Given the description of an element on the screen output the (x, y) to click on. 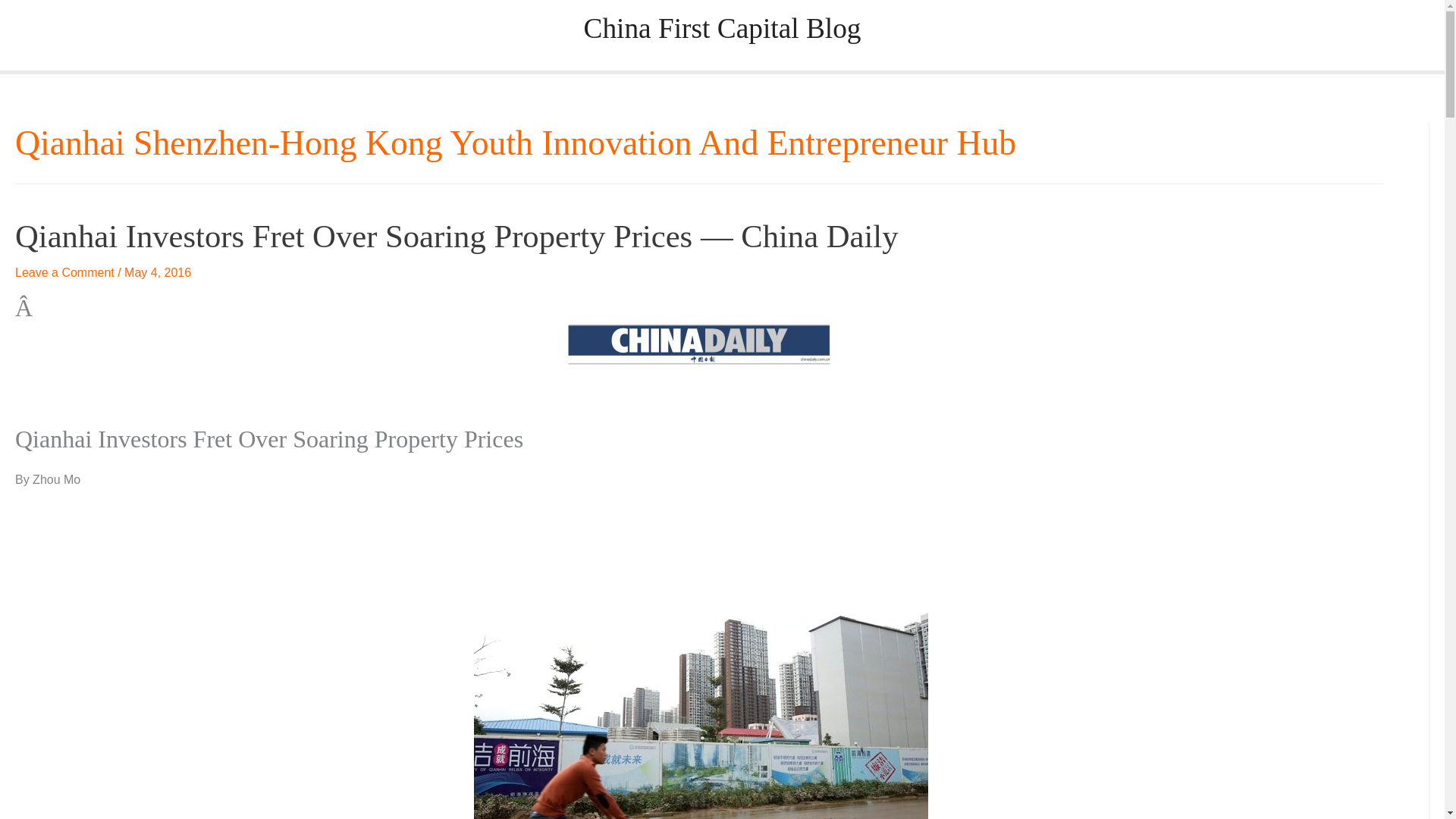
China First Capital Blog (721, 28)
Leave a Comment (64, 272)
